Given the description of an element on the screen output the (x, y) to click on. 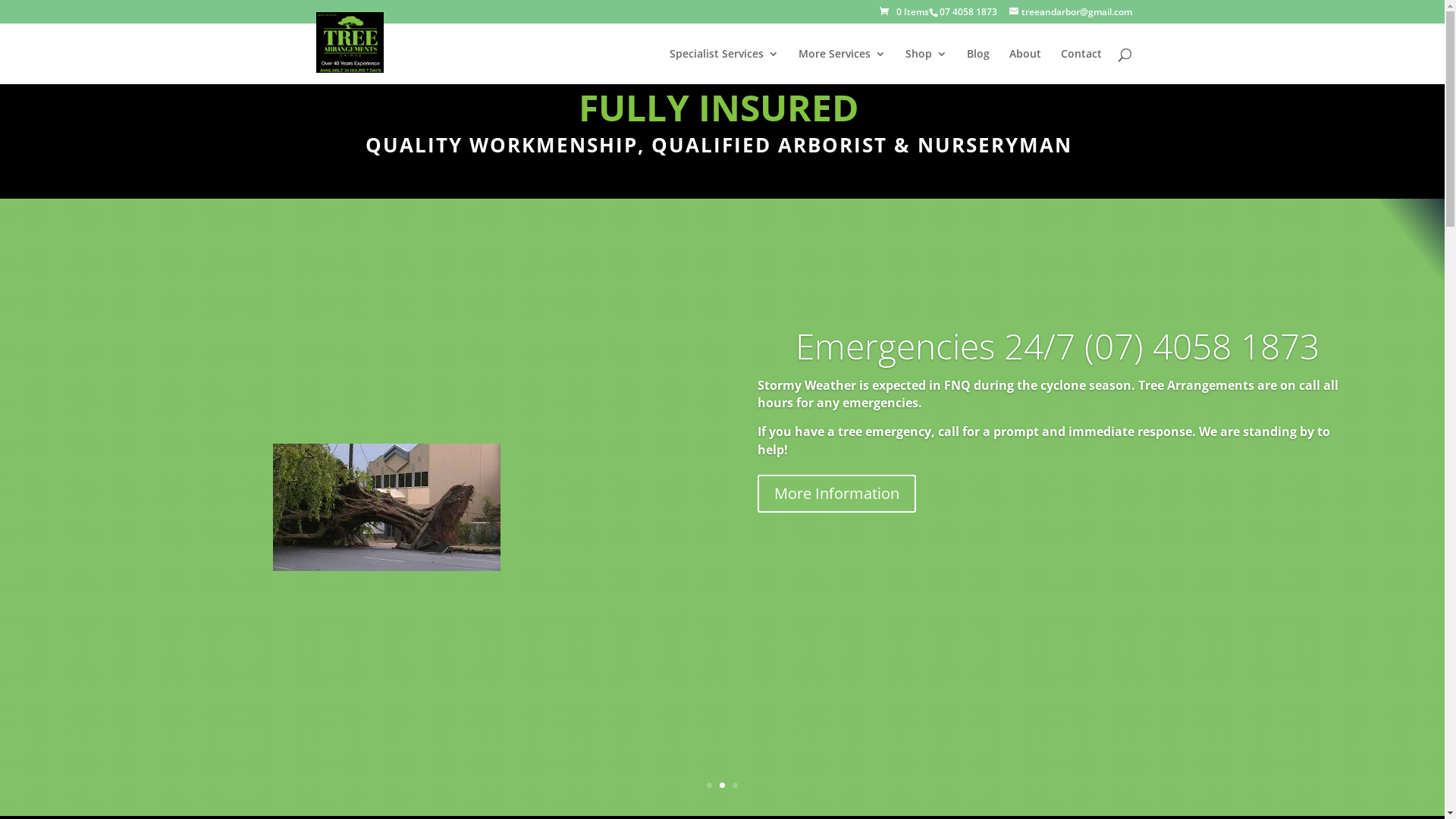
Specialist Services Element type: text (723, 66)
Shop Element type: text (926, 66)
treeandarbor@gmail.com Element type: text (1069, 11)
2 Element type: text (721, 784)
0 Items Element type: text (903, 11)
3 Element type: text (734, 784)
Blog Element type: text (977, 66)
Emergencies 24/7 (07) 4058 1873 Element type: text (1057, 345)
More Information Element type: text (836, 493)
More Services Element type: text (840, 66)
Contact Element type: text (1080, 66)
About Element type: text (1024, 66)
1 Element type: text (709, 784)
